Given the description of an element on the screen output the (x, y) to click on. 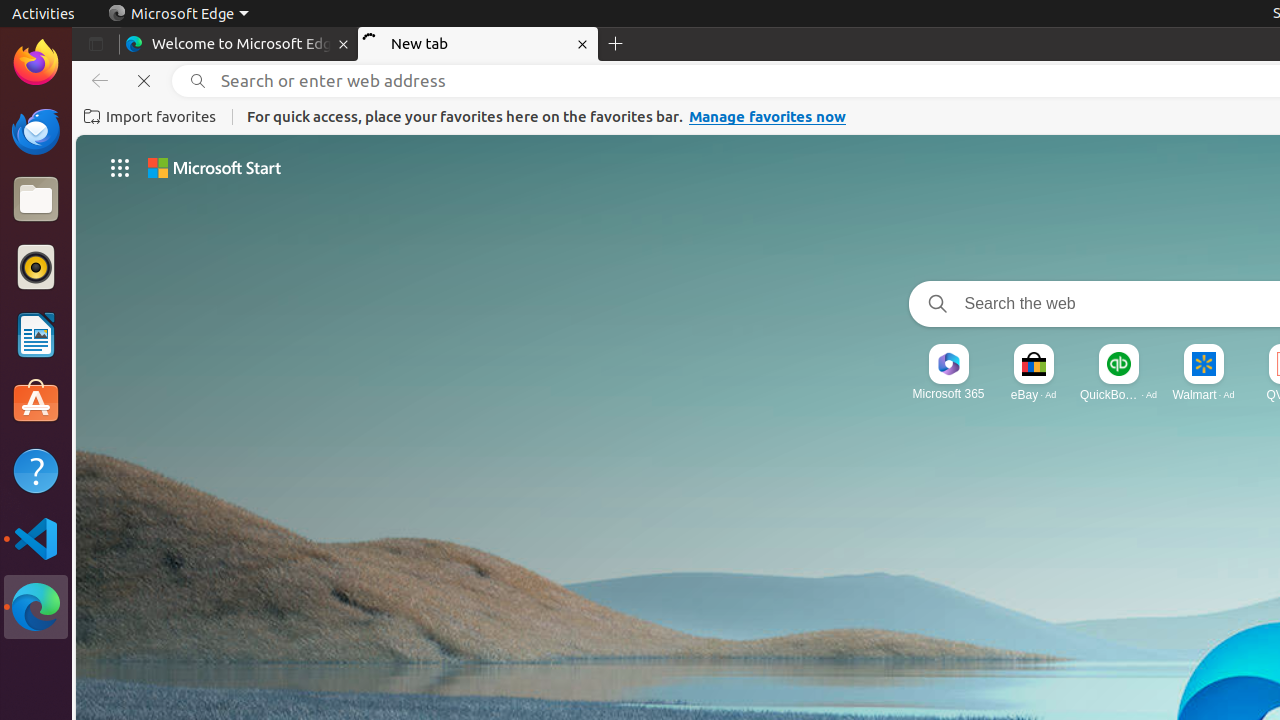
Microsoft 365 Element type: link (948, 393)
Manage favorites now Element type: link (767, 117)
Back Element type: push-button (96, 81)
Help Element type: push-button (36, 470)
Visual Studio Code Element type: push-button (36, 538)
